Given the description of an element on the screen output the (x, y) to click on. 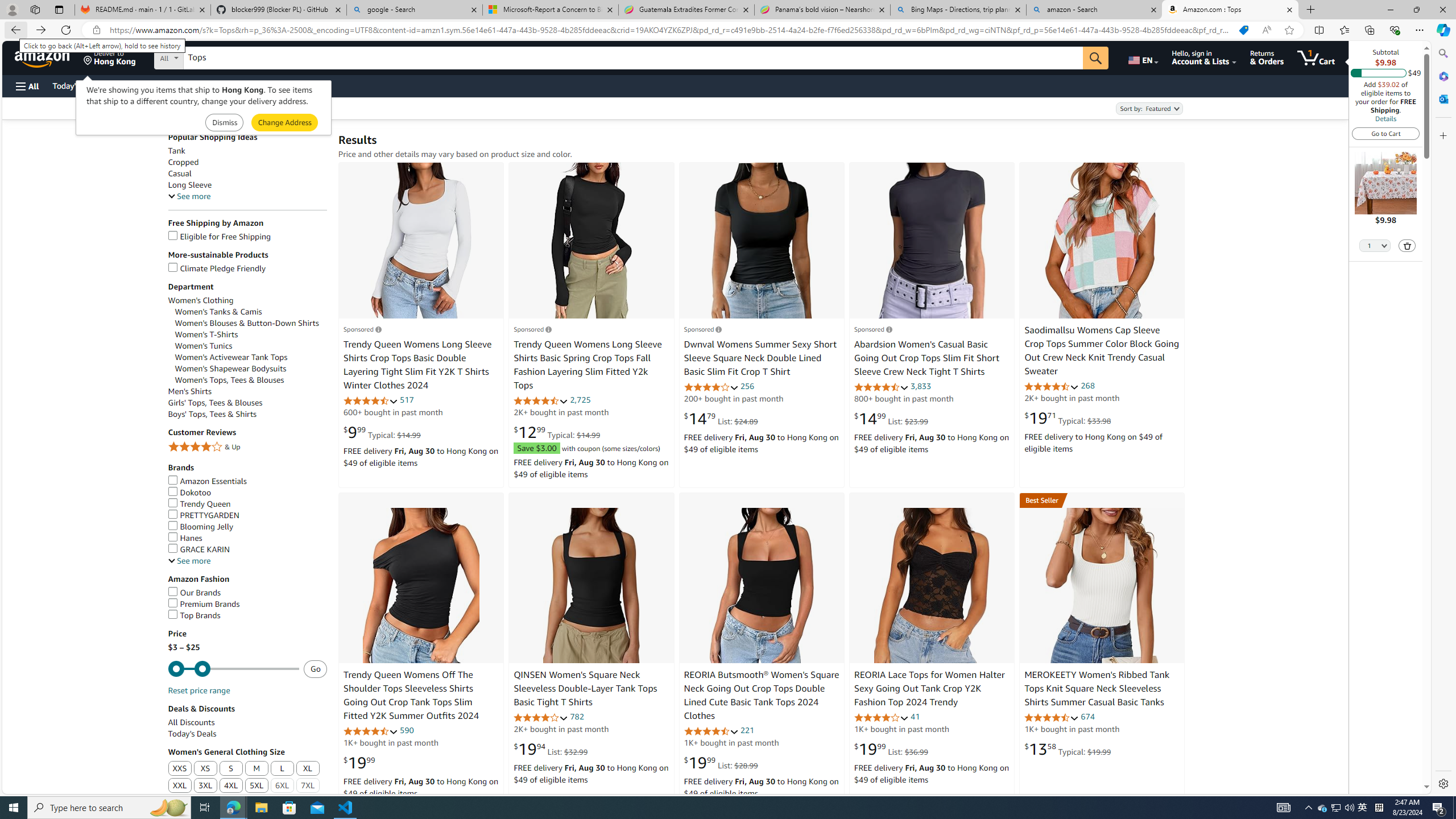
5XL (255, 785)
Hello, sign in Account & Lists (1203, 57)
Submit (284, 122)
41 (915, 716)
782 (576, 716)
Premium Brands (247, 604)
3XL (204, 785)
XS (205, 768)
Eligible for Free Shipping (247, 236)
Eligible for Free Shipping (218, 236)
